Given the description of an element on the screen output the (x, y) to click on. 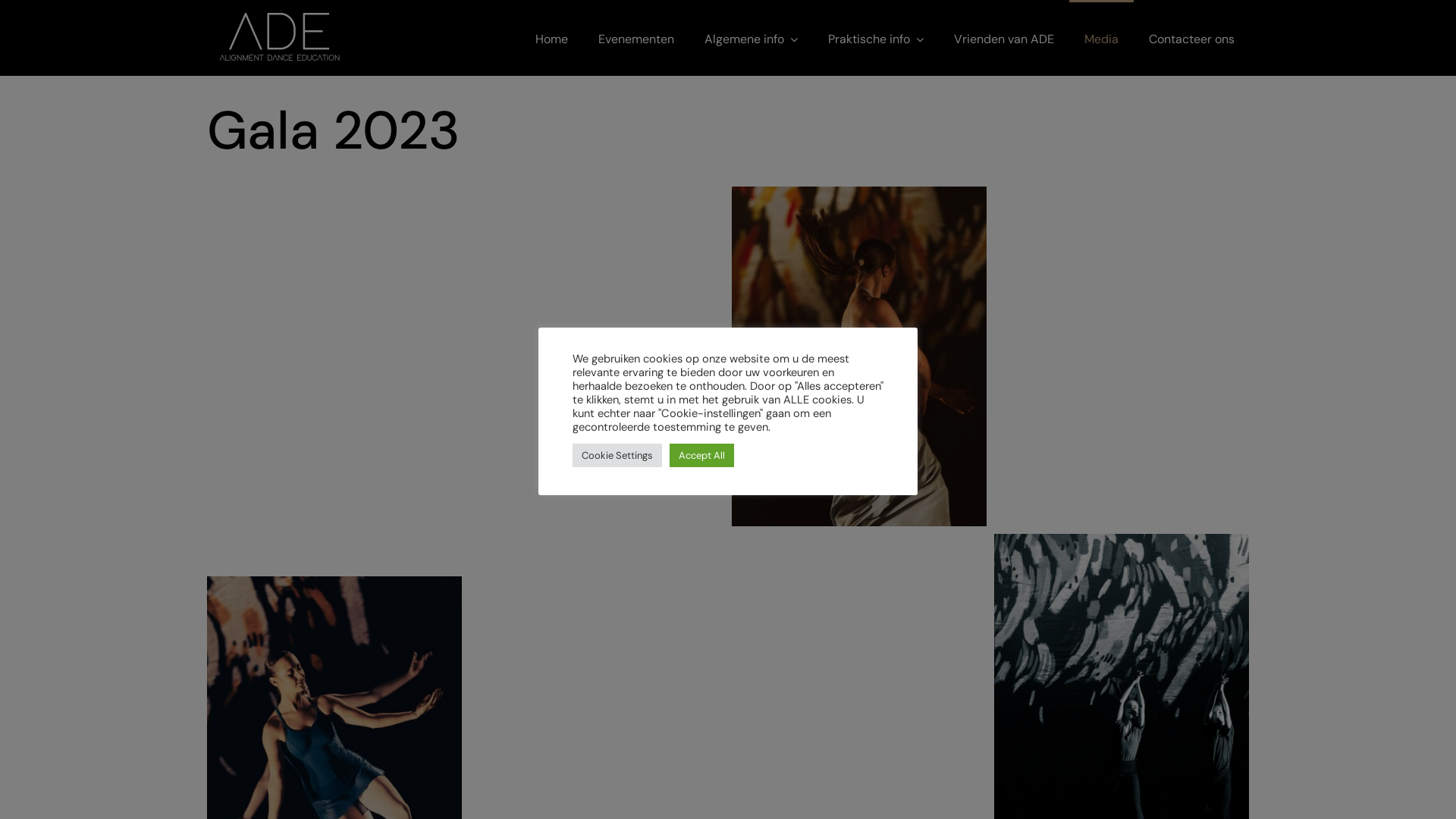
Algemene info Element type: text (750, 37)
Accept All Element type: text (701, 454)
Media Element type: text (1101, 37)
ADE gala Element type: hover (333, 377)
ADE gala Element type: hover (595, 356)
Vrienden van ADE Element type: text (1003, 37)
Cookie Settings Element type: text (617, 454)
Home Element type: text (551, 37)
ADE gala Element type: hover (1120, 356)
ADE gala Element type: hover (858, 356)
Praktische info Element type: text (875, 37)
Contacteer ons Element type: text (1191, 37)
Evenementen Element type: text (636, 37)
